Given the description of an element on the screen output the (x, y) to click on. 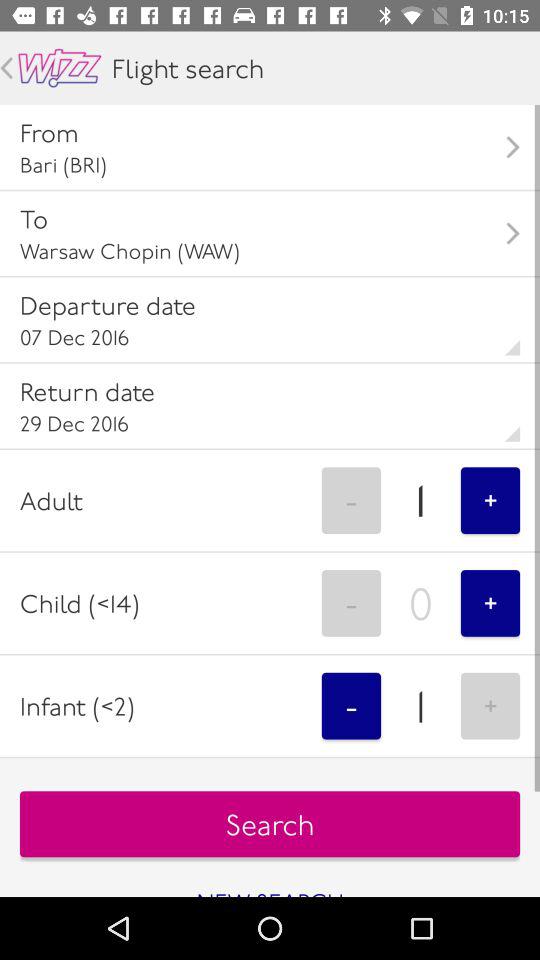
launch the - icon (351, 603)
